Given the description of an element on the screen output the (x, y) to click on. 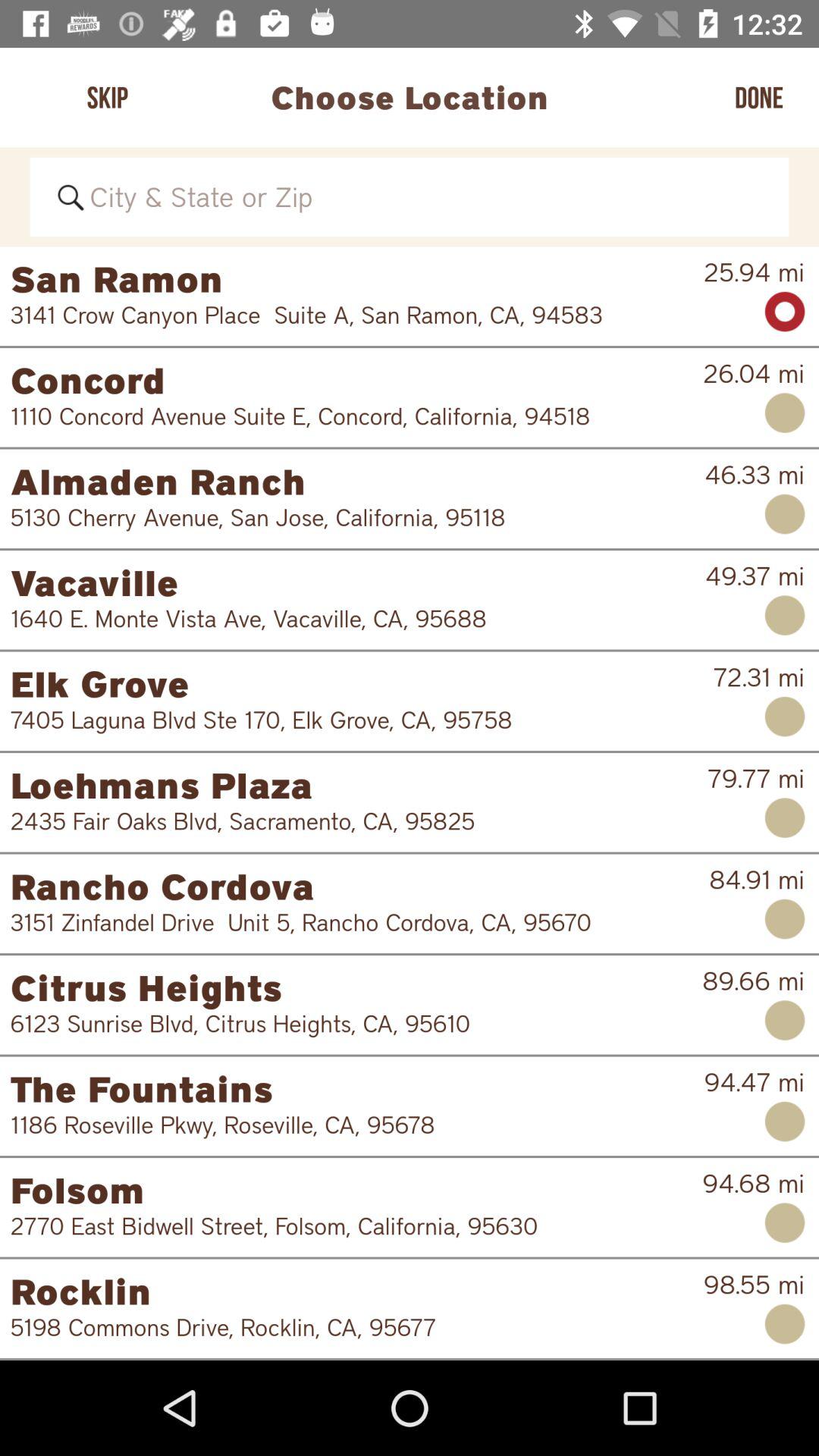
click the radio button beside of folsom (785, 1222)
